Given the description of an element on the screen output the (x, y) to click on. 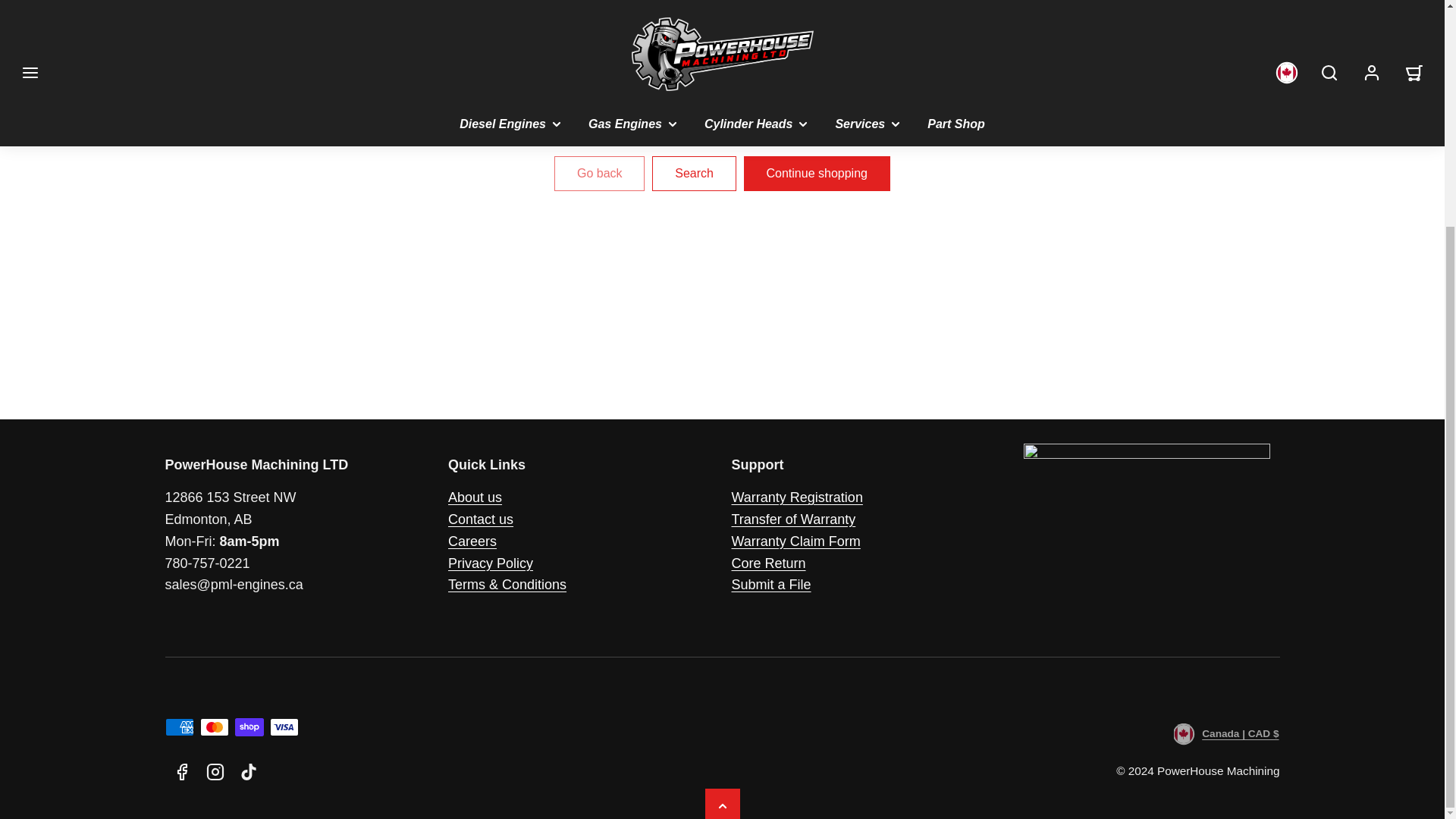
Mastercard (214, 727)
Visa (283, 727)
Shop Pay (248, 727)
American Express (179, 727)
